Given the description of an element on the screen output the (x, y) to click on. 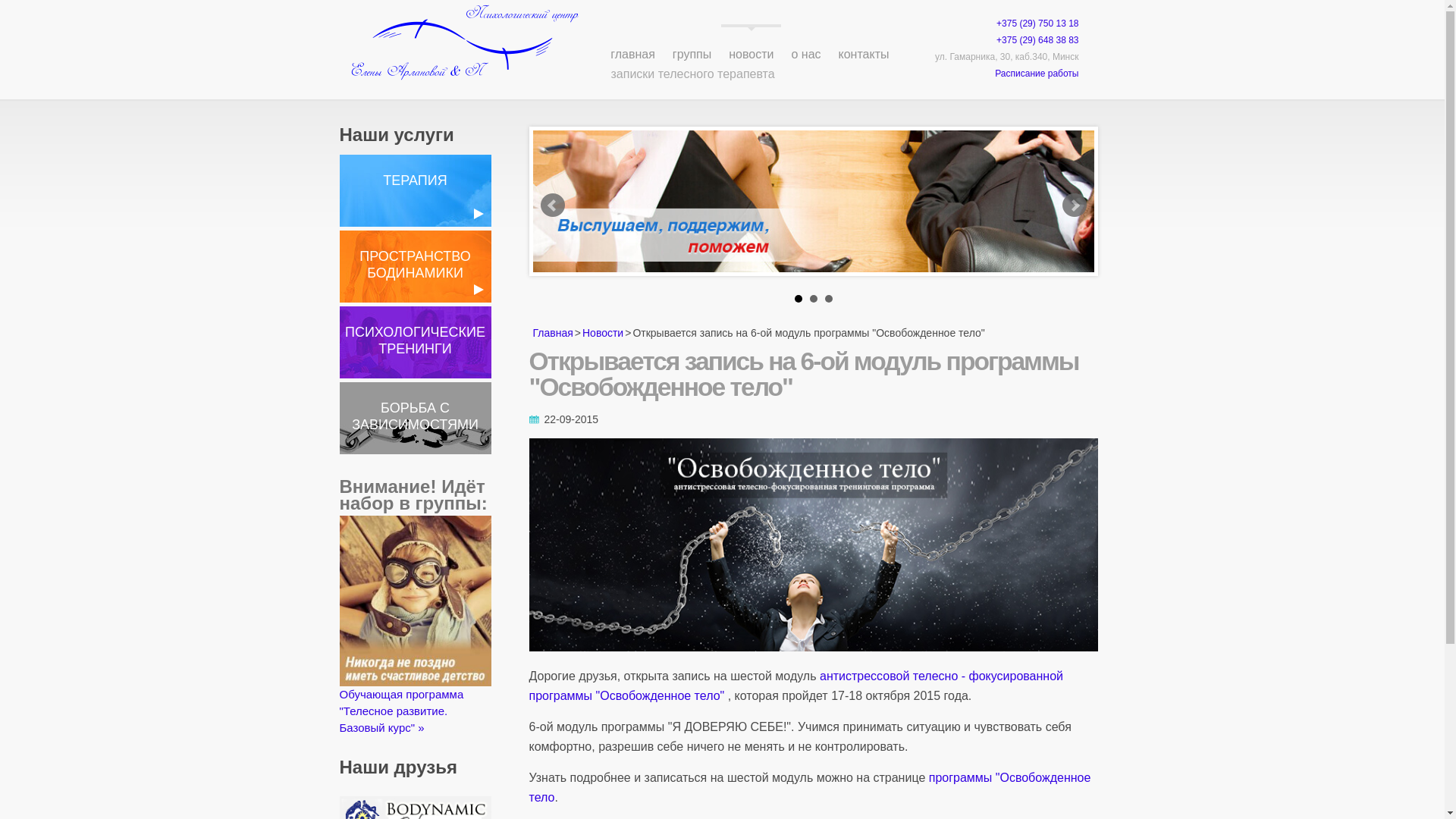
3 Element type: text (828, 298)
Next Element type: text (1073, 204)
2 Element type: text (813, 298)
Prev Element type: text (551, 204)
+375 (29) 648 38 83 Element type: text (1037, 39)
1 Element type: text (798, 298)
+375 (29) 750 13 18 Element type: text (1037, 23)
